Given the description of an element on the screen output the (x, y) to click on. 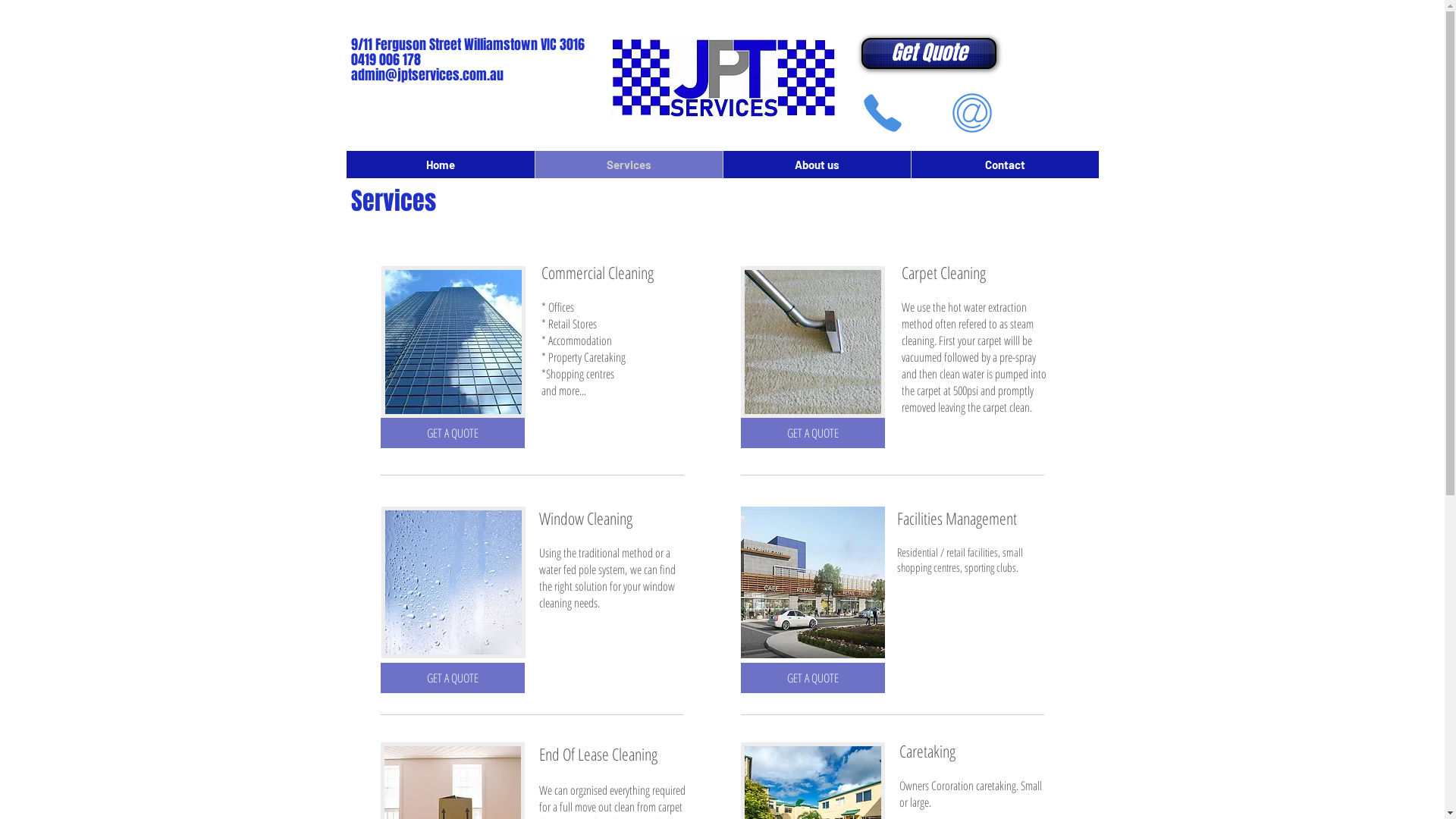
About us Element type: text (815, 164)
window cleaning.jpg Element type: hover (452, 582)
GET A QUOTE Element type: text (812, 432)
GET A QUOTE Element type: text (452, 677)
Services Element type: text (627, 164)
GET A QUOTE Element type: text (452, 432)
steamcleaning.jpg Element type: hover (812, 341)
Get Quote Element type: text (928, 53)
Home Element type: text (439, 164)
office1.jpg Element type: hover (452, 341)
Contact Element type: text (1004, 164)
GET A QUOTE Element type: text (812, 677)
